Given the description of an element on the screen output the (x, y) to click on. 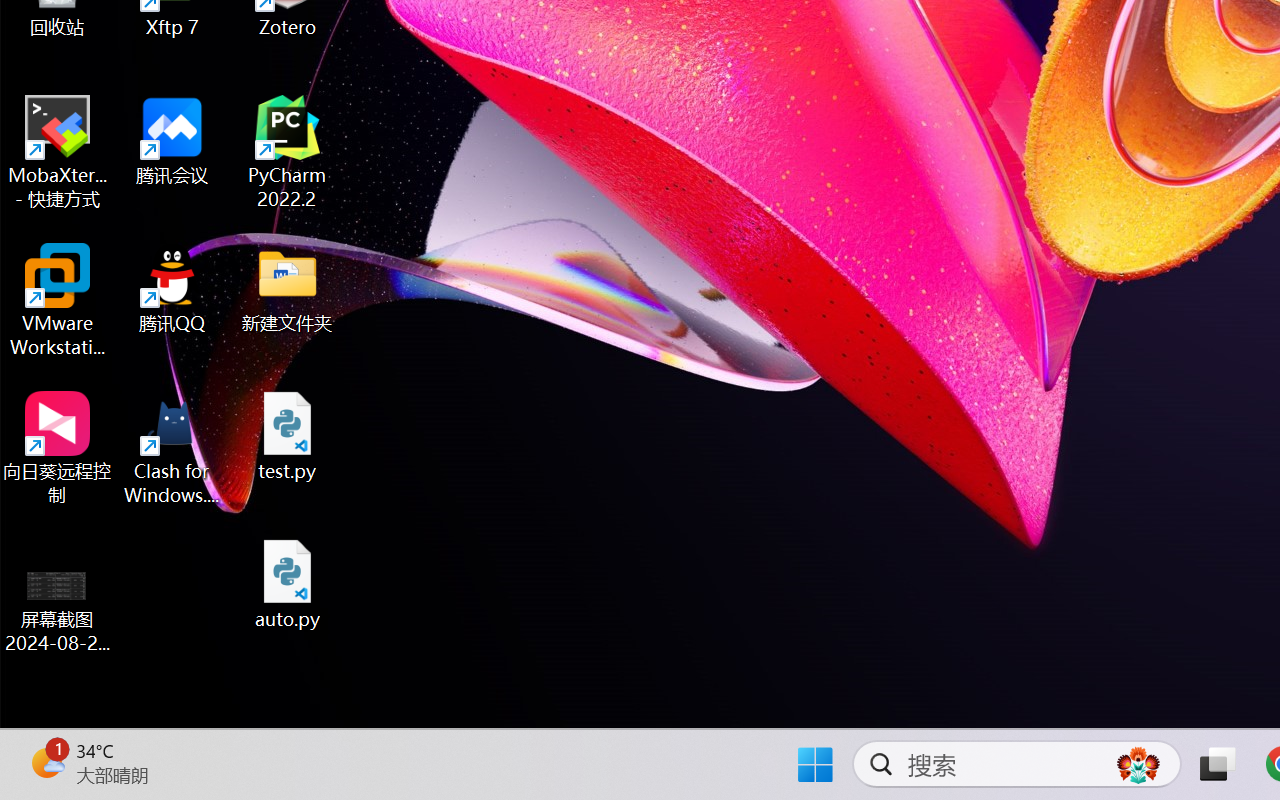
auto.py (287, 584)
VMware Workstation Pro (57, 300)
test.py (287, 436)
PyCharm 2022.2 (287, 152)
